Given the description of an element on the screen output the (x, y) to click on. 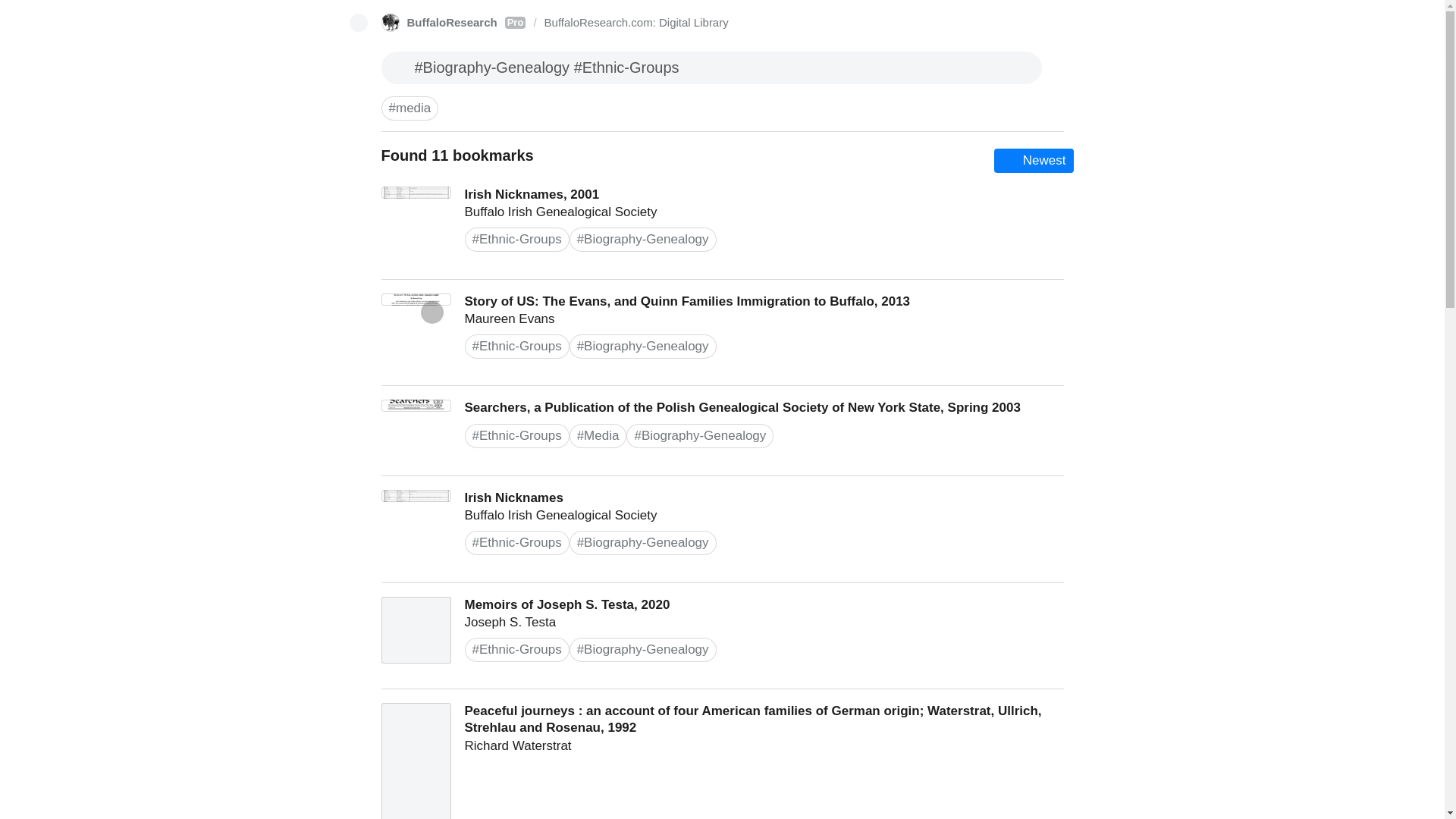
Irish Nicknames (721, 529)
BuffaloResearch.com: Digital Library (636, 22)
Go back (357, 22)
Irish Nicknames, 2001 (721, 226)
Memoirs of Joseph S. Testa, 2020 (452, 22)
